Given the description of an element on the screen output the (x, y) to click on. 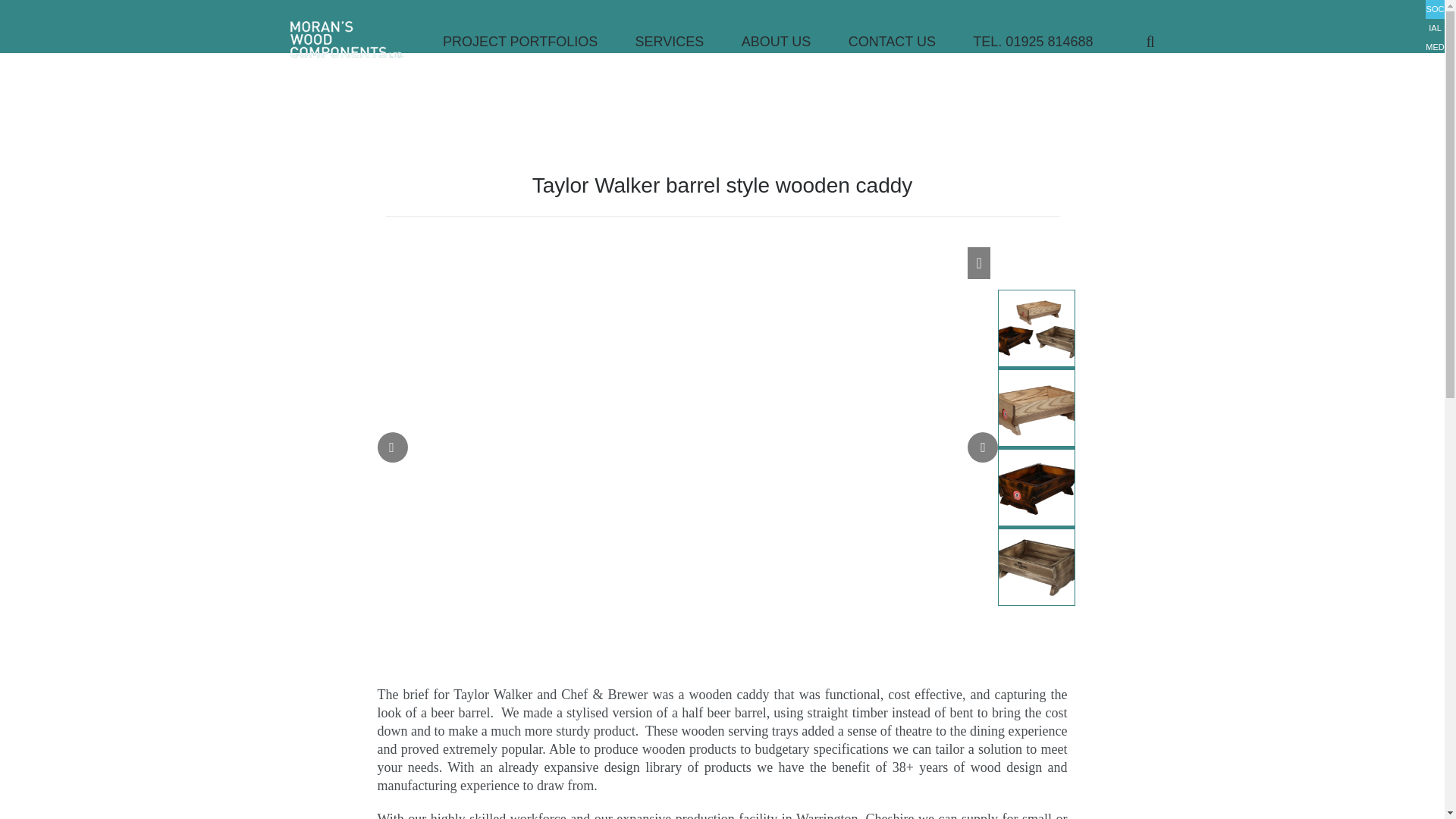
SKIP TO SECONDARY CONTENT (494, 41)
serving trays (762, 730)
SKIP TO PRIMARY CONTENT (486, 41)
PROJECT PORTFOLIOS (519, 41)
TEL. 01925 814688 (1031, 41)
ABOUT US (776, 41)
CONTACT US (892, 41)
Skip to primary content (486, 41)
SERVICES (670, 41)
Skip to secondary content (494, 41)
